Given the description of an element on the screen output the (x, y) to click on. 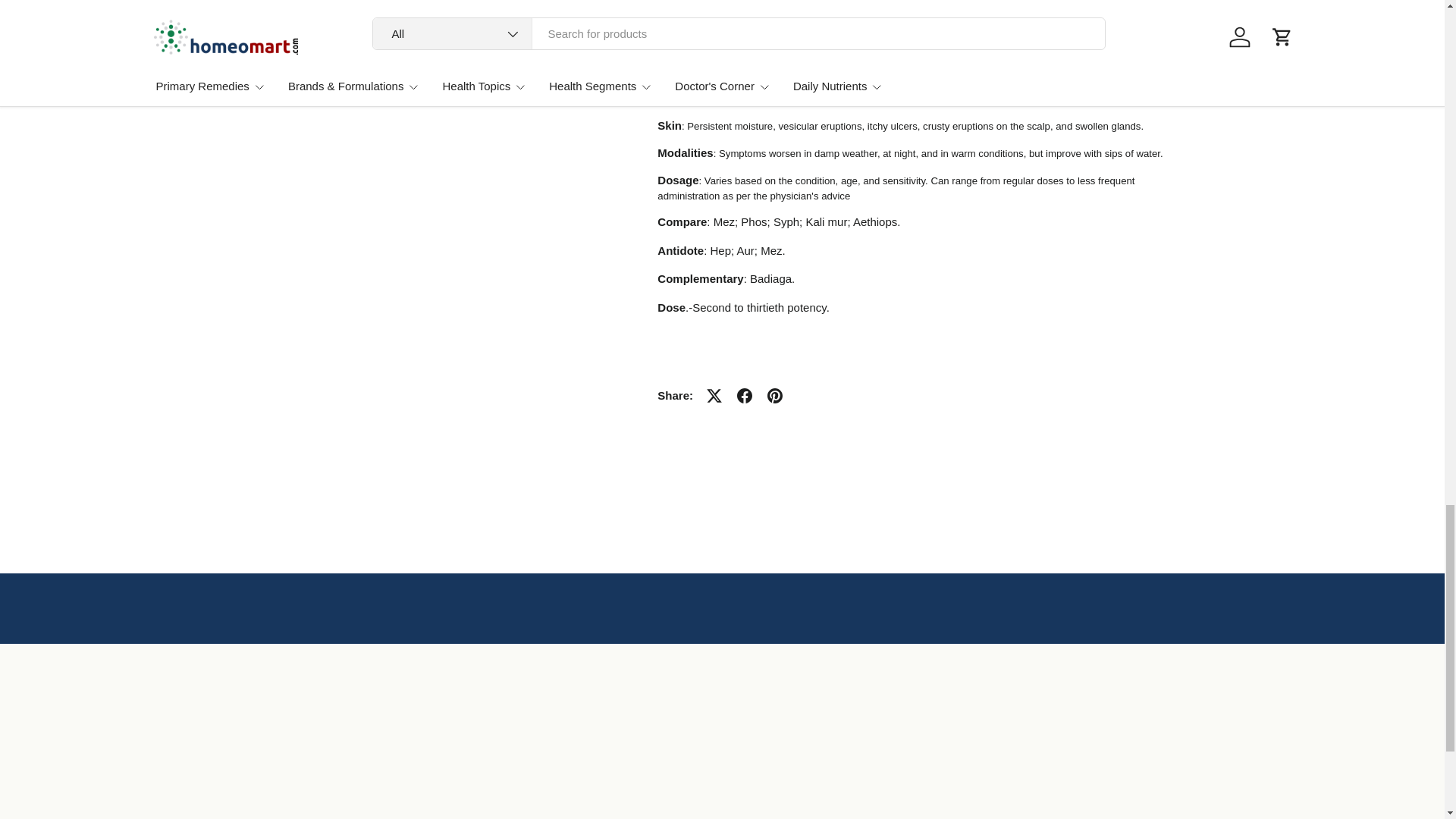
Tweet on X (713, 395)
Share on Facebook (744, 395)
Pin on Pinterest (775, 395)
